Given the description of an element on the screen output the (x, y) to click on. 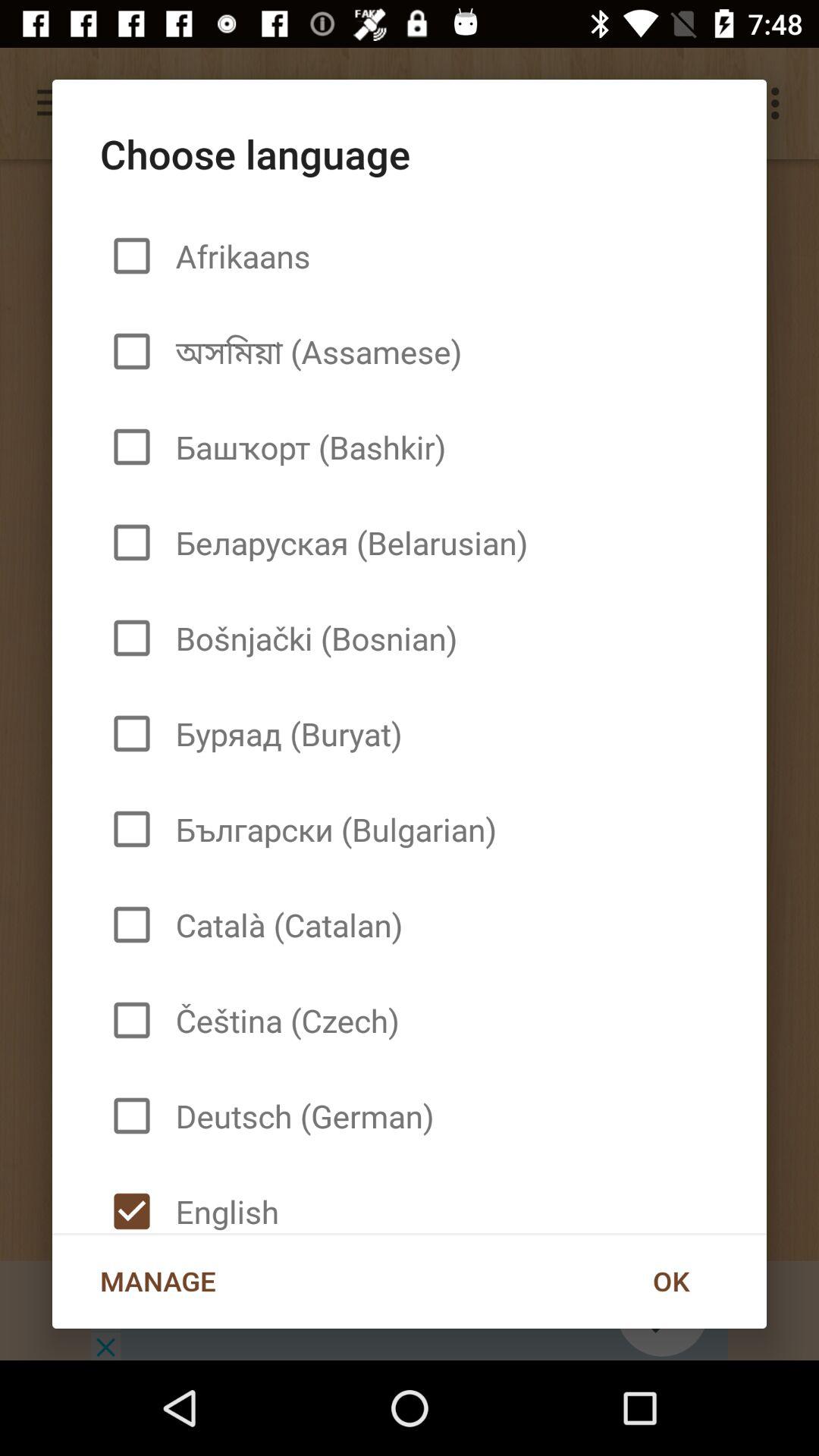
click the icon next to the english (670, 1280)
